Given the description of an element on the screen output the (x, y) to click on. 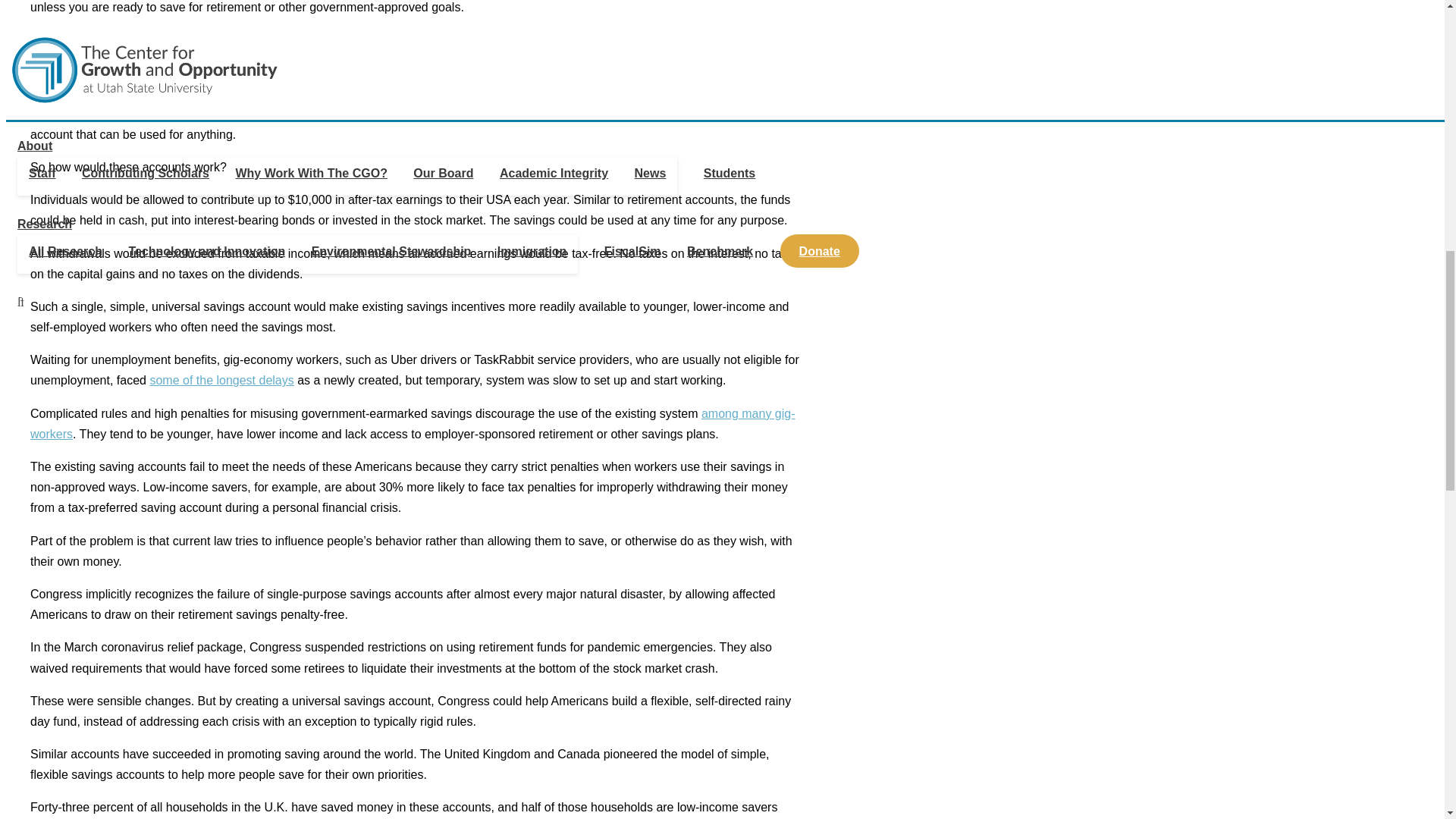
among many gig-workers (412, 423)
some of the longest delays (221, 379)
